Given the description of an element on the screen output the (x, y) to click on. 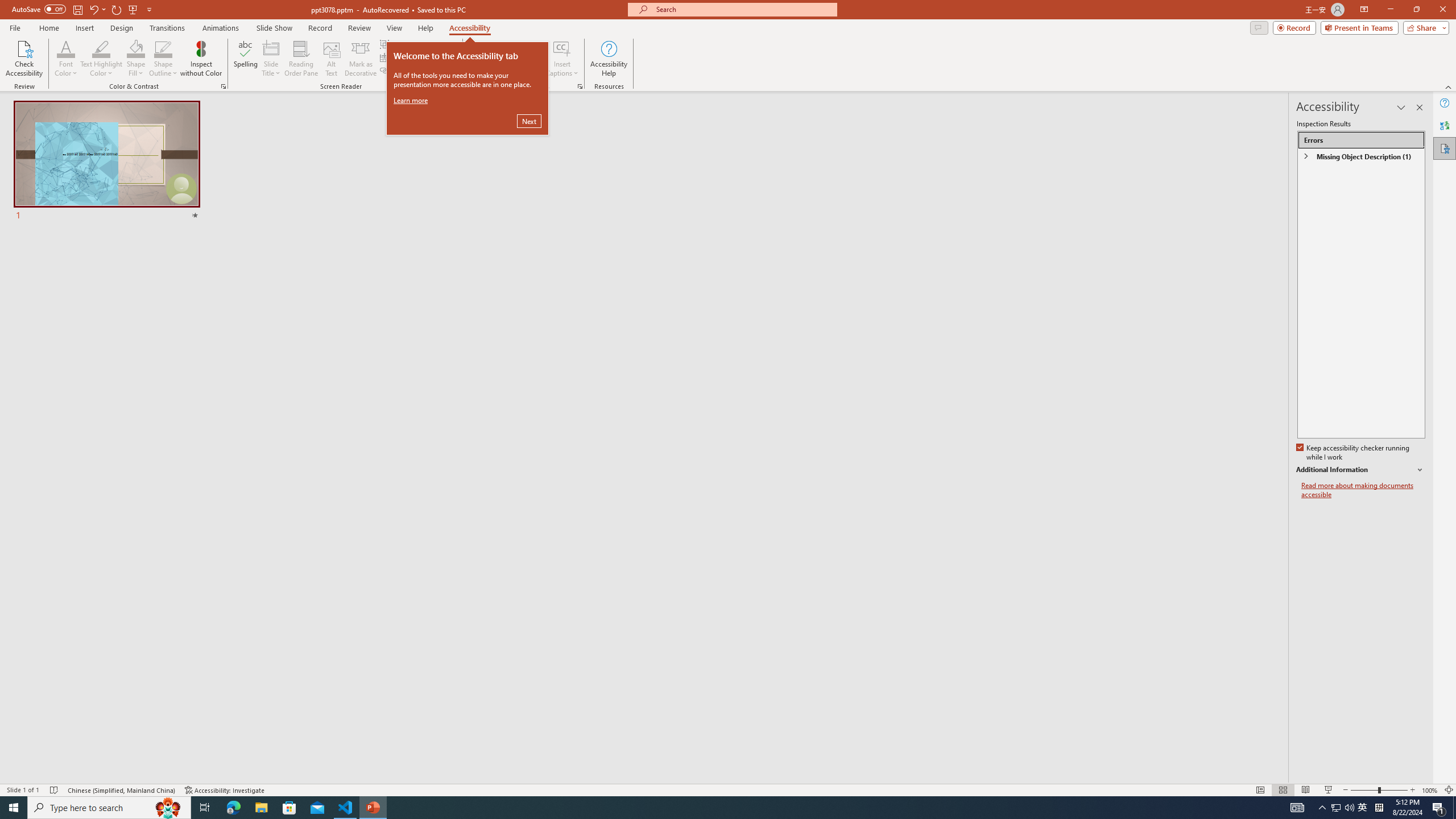
Group (398, 44)
Translator (1444, 125)
Additional Information (1360, 469)
Zoom 100% (1430, 790)
Accessibility Help (608, 58)
Mark as Decorative (360, 58)
